Given the description of an element on the screen output the (x, y) to click on. 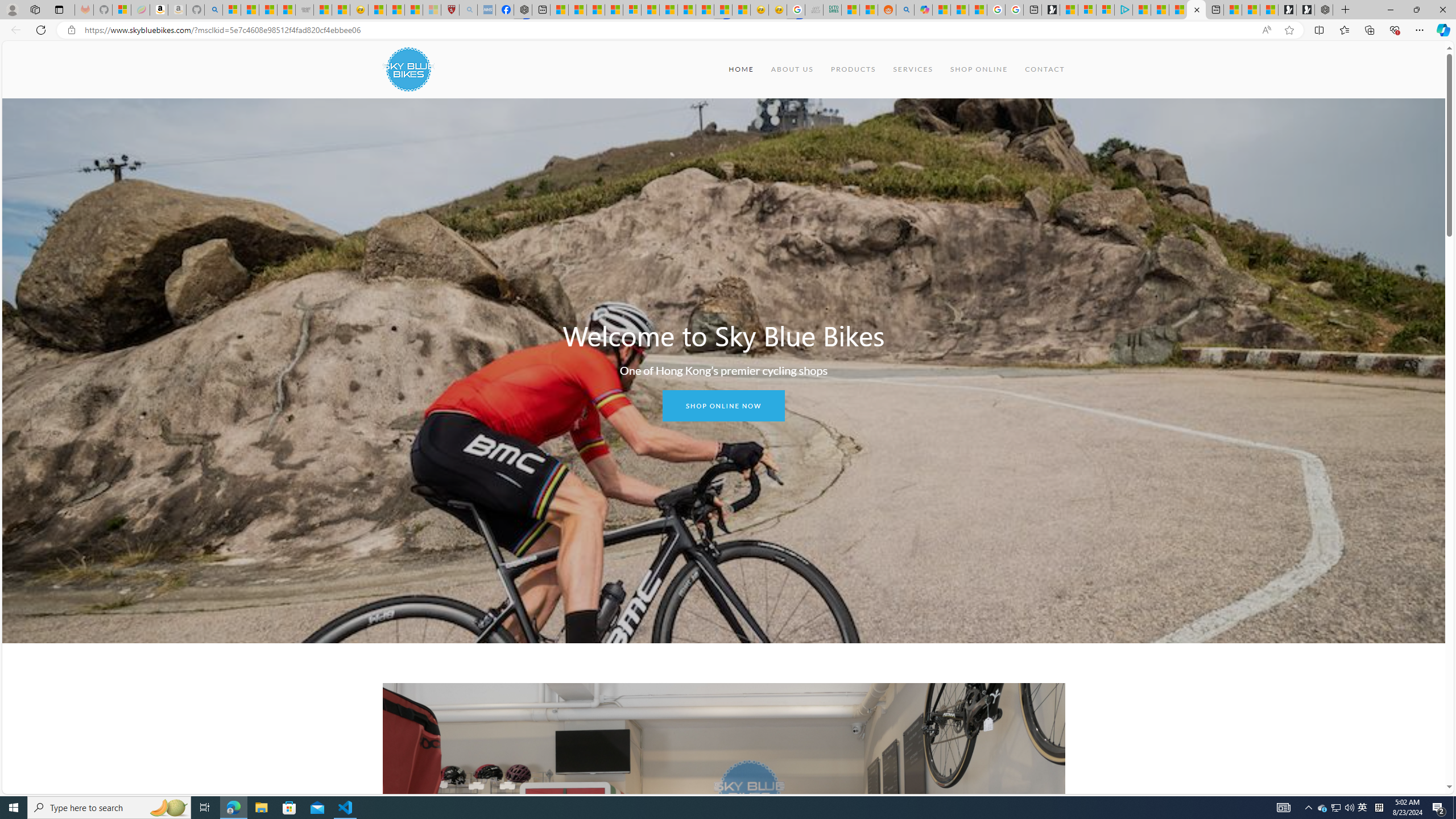
SHOP ONLINE NOW (723, 405)
DITOGAMES AG Imprint (831, 9)
Microsoft-Report a Concern to Bing (121, 9)
12 Popular Science Lies that Must be Corrected - Sleeping (431, 9)
Microsoft account | Privacy (1105, 9)
Robert H. Shmerling, MD - Harvard Health (450, 9)
CONTACT (1045, 68)
